Given the description of an element on the screen output the (x, y) to click on. 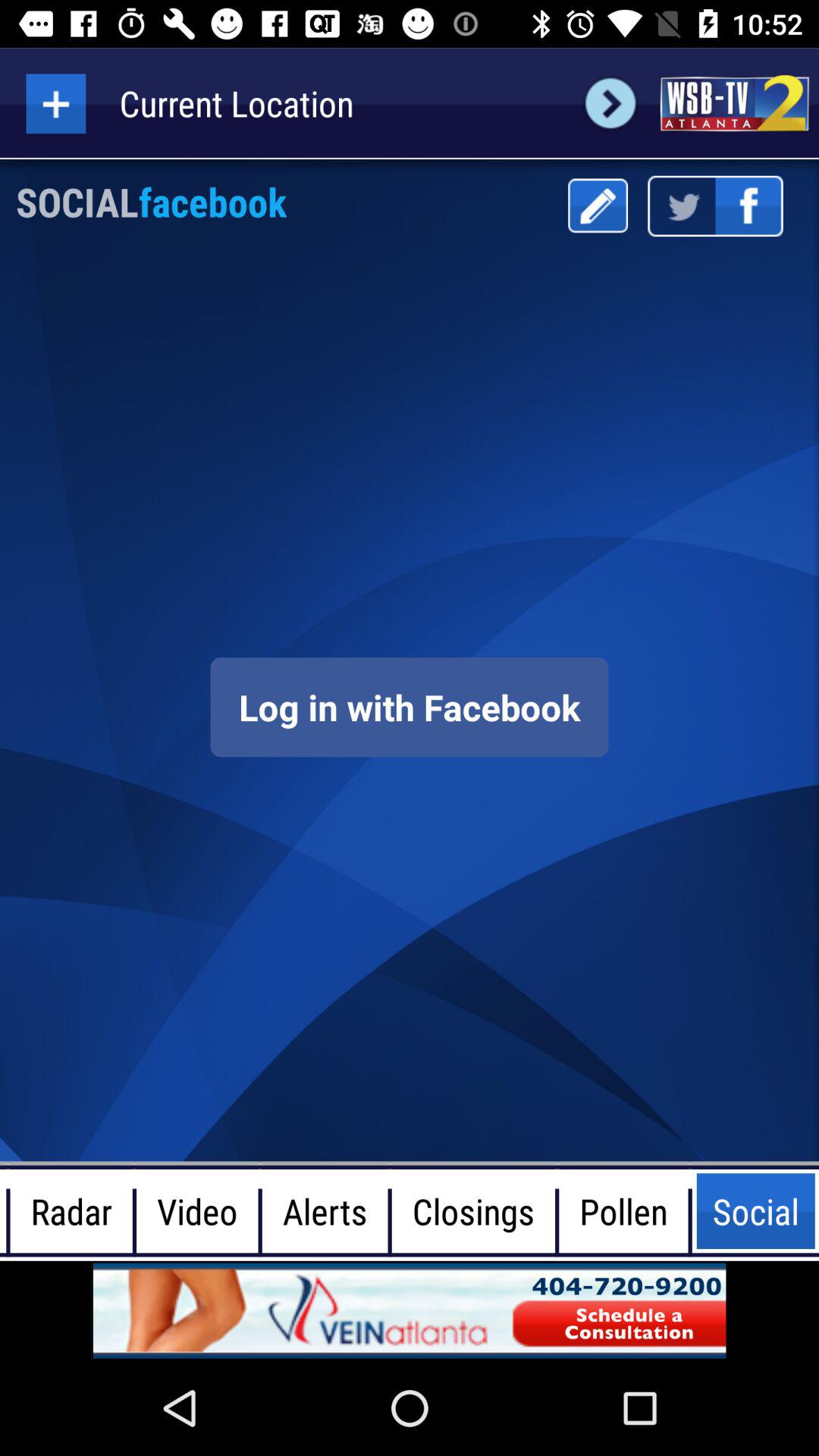
menu page (597, 206)
